Given the description of an element on the screen output the (x, y) to click on. 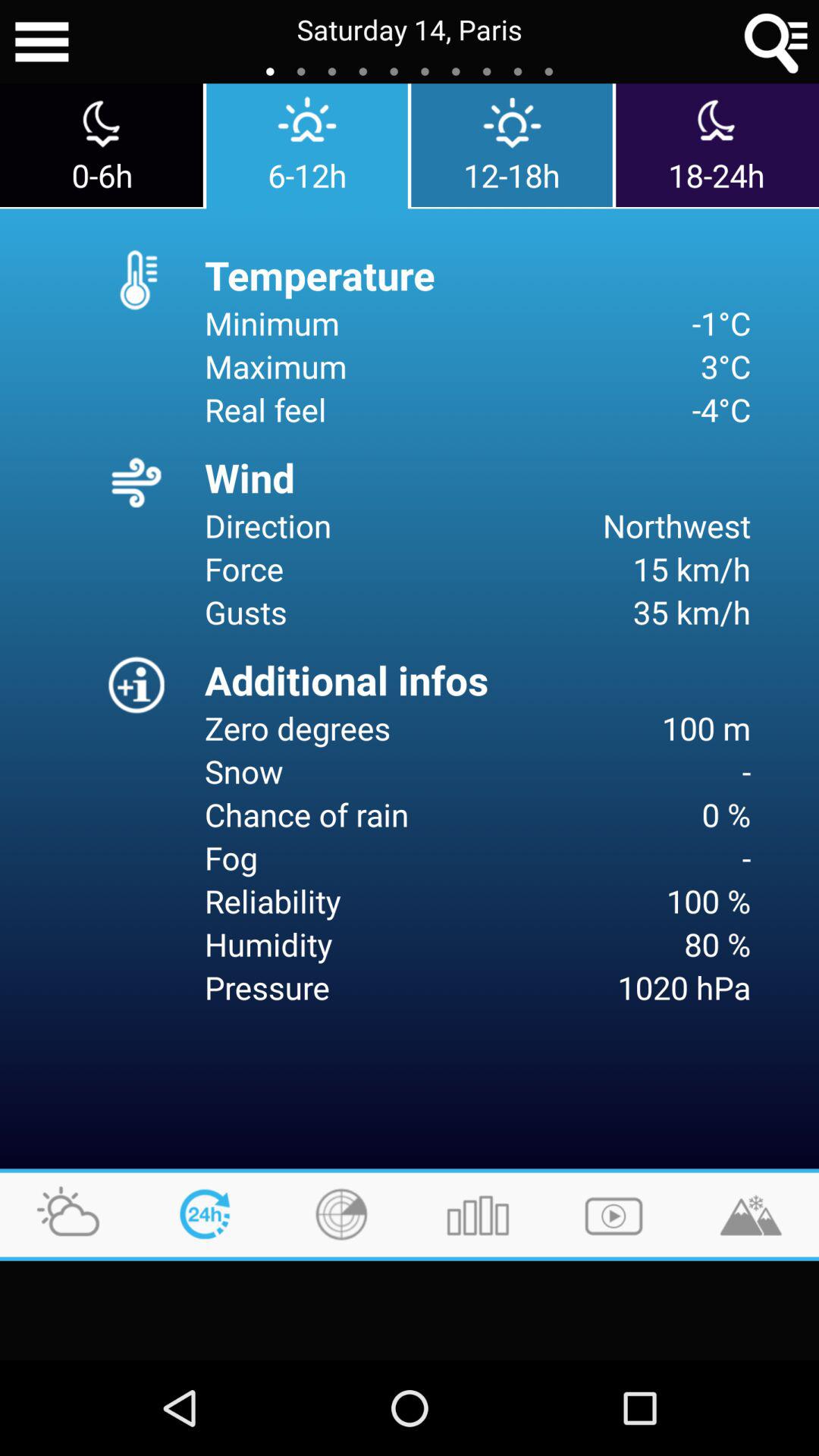
tap item to the right of 6-12h icon (511, 145)
